Given the description of an element on the screen output the (x, y) to click on. 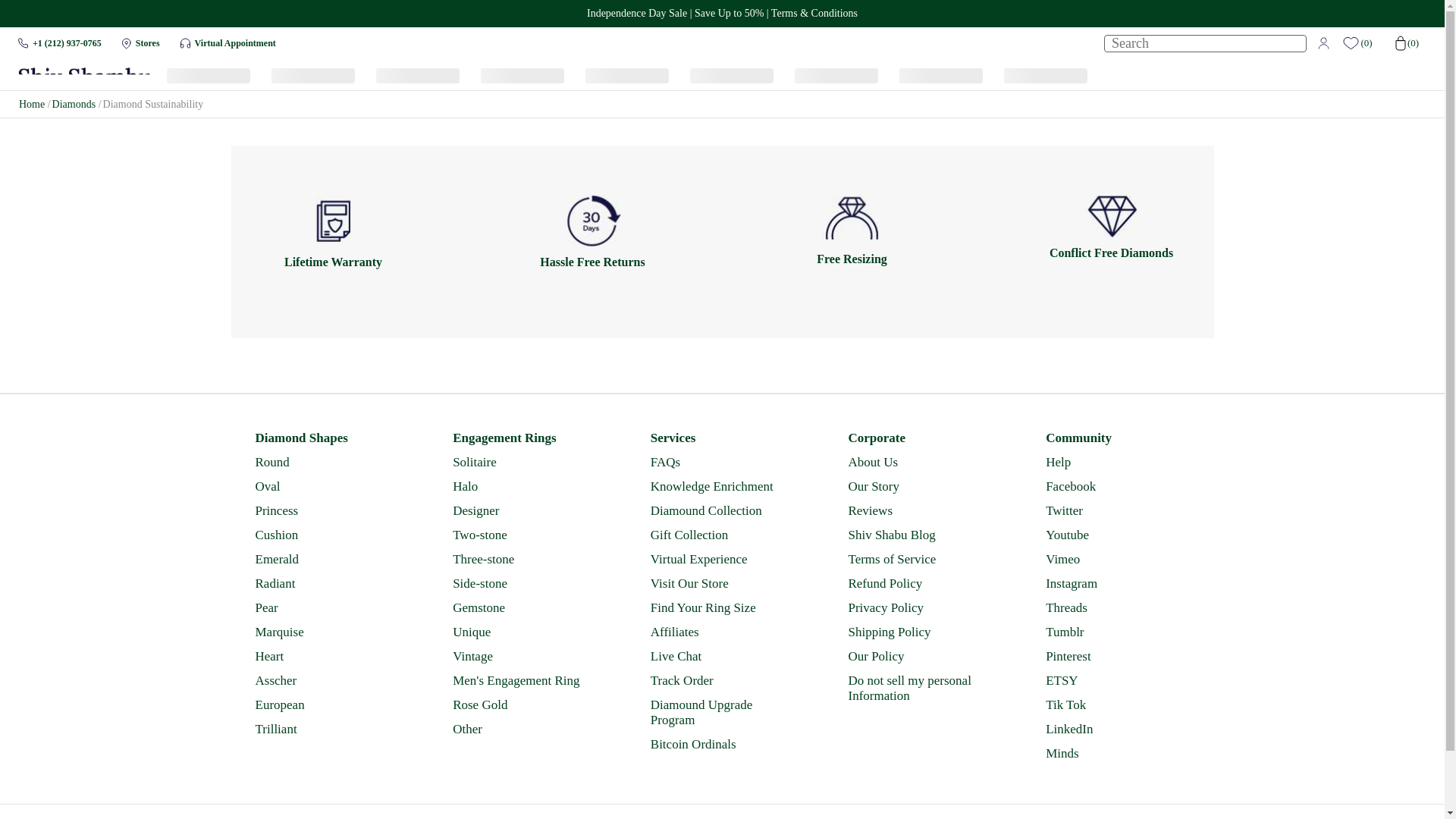
Diamonds (74, 103)
Oval (325, 486)
Designer (523, 510)
Stores (147, 42)
Rose Gold (523, 704)
Stores (147, 42)
Three-stone (523, 559)
Virtual Appointmen (185, 42)
Trilliant (325, 729)
Radiant (325, 583)
